Given the description of an element on the screen output the (x, y) to click on. 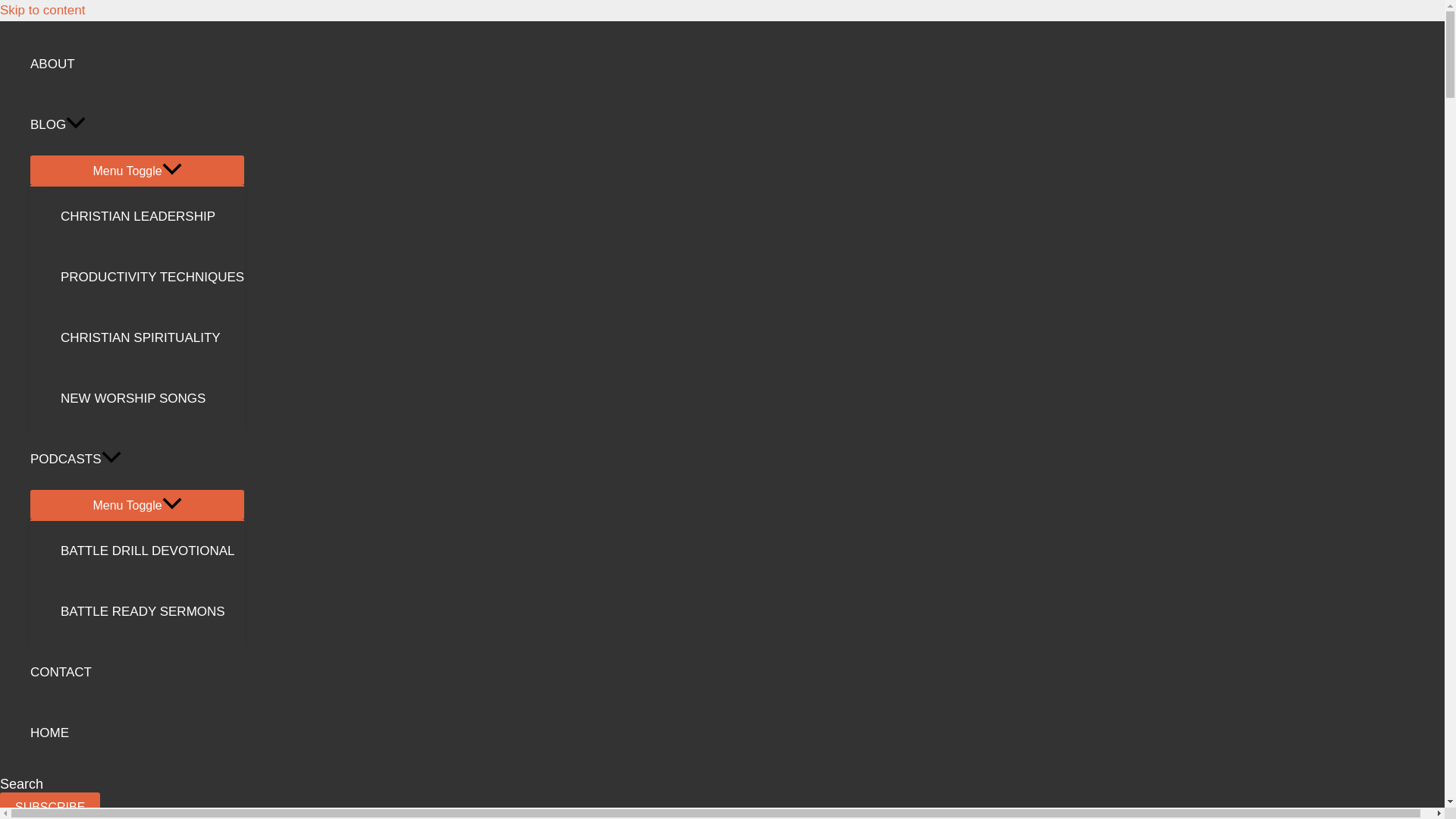
BLOG (137, 125)
ABOUT (137, 64)
Skip to content (42, 10)
Skip to content (42, 10)
HOME (137, 732)
BATTLE READY SERMONS (152, 611)
PODCASTS (137, 459)
Search (21, 784)
CHRISTIAN SPIRITUALITY (152, 337)
CONTACT (137, 672)
